Given the description of an element on the screen output the (x, y) to click on. 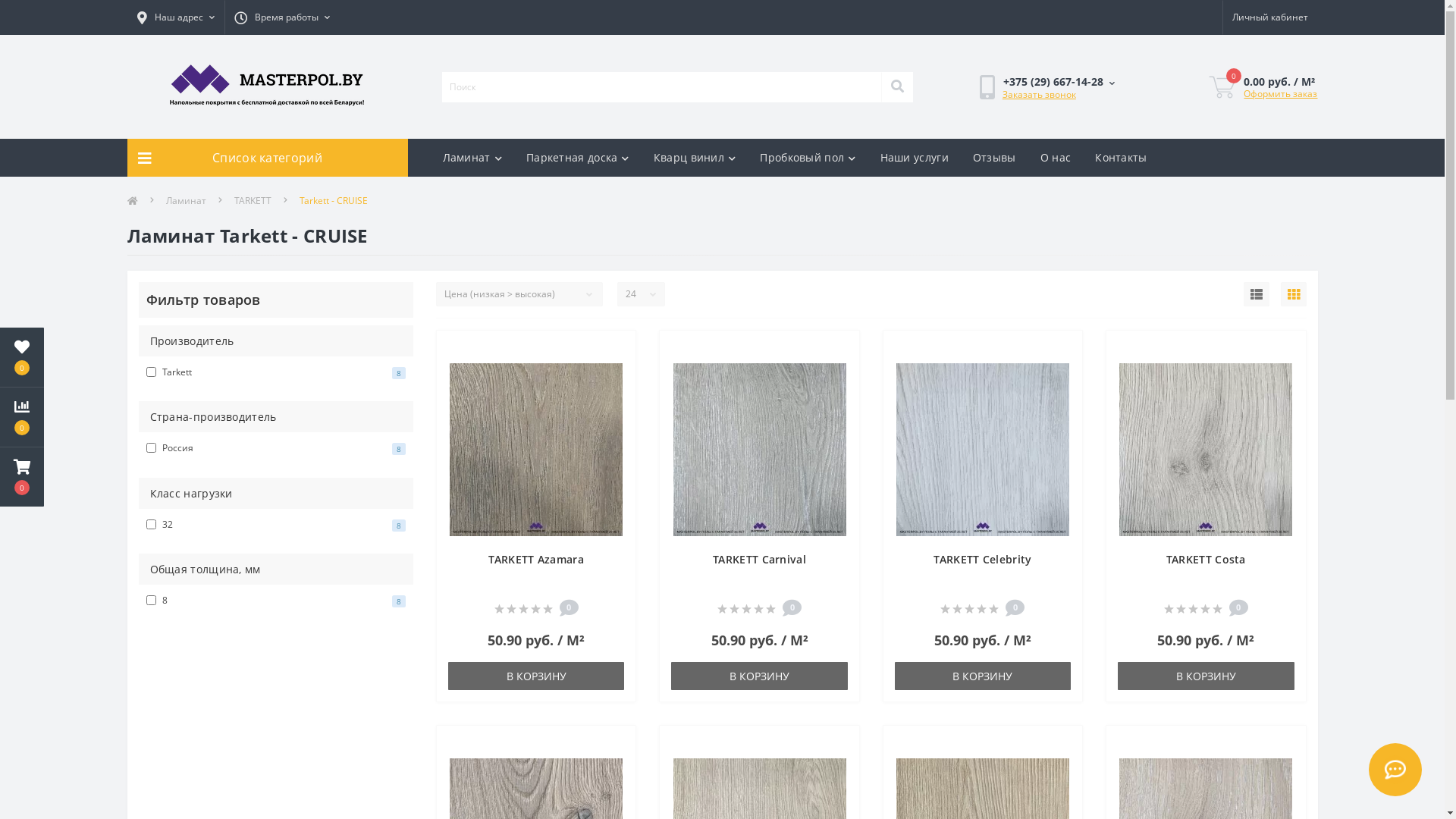
TARKETT Azamara Element type: text (535, 559)
TARKETT Carnival Element type: text (759, 559)
TARKETT Celebrity Element type: text (982, 559)
TARKETT Costa Element type: text (1205, 559)
0 Element type: text (21, 416)
+375 (29) 667-14-28 Element type: text (1058, 81)
0 Element type: text (21, 356)
TARKETT  Carnival Element type: hover (759, 449)
0 Element type: text (21, 476)
TARKETT  Costa Element type: hover (1205, 449)
TARKETT Element type: text (251, 200)
0 Element type: text (1222, 86)
TARKETT  Azamara Element type: hover (535, 449)
TARKETT  Celebrity Element type: hover (982, 449)
